Given the description of an element on the screen output the (x, y) to click on. 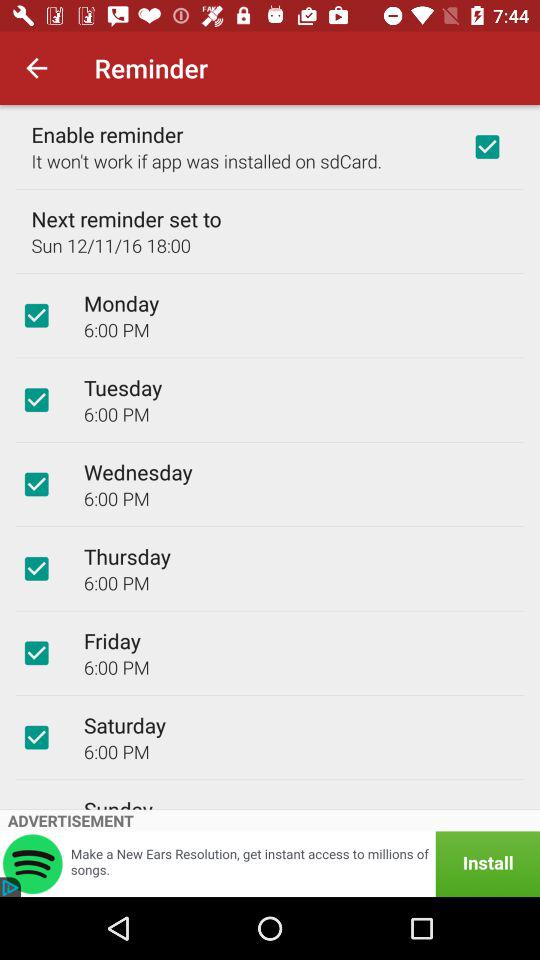
toggle reminder for monday (36, 315)
